Given the description of an element on the screen output the (x, y) to click on. 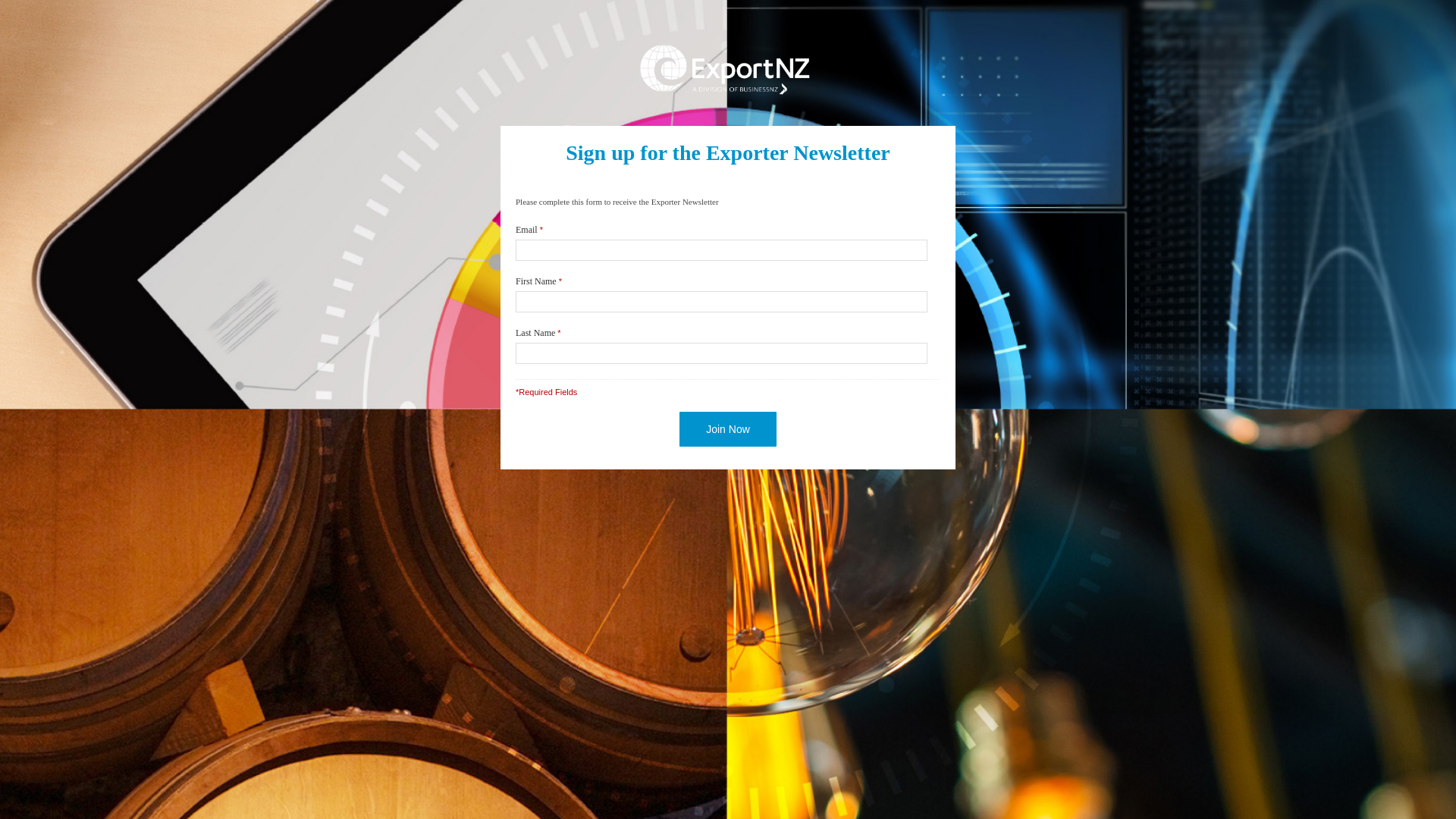
Join Now Element type: text (727, 428)
